Given the description of an element on the screen output the (x, y) to click on. 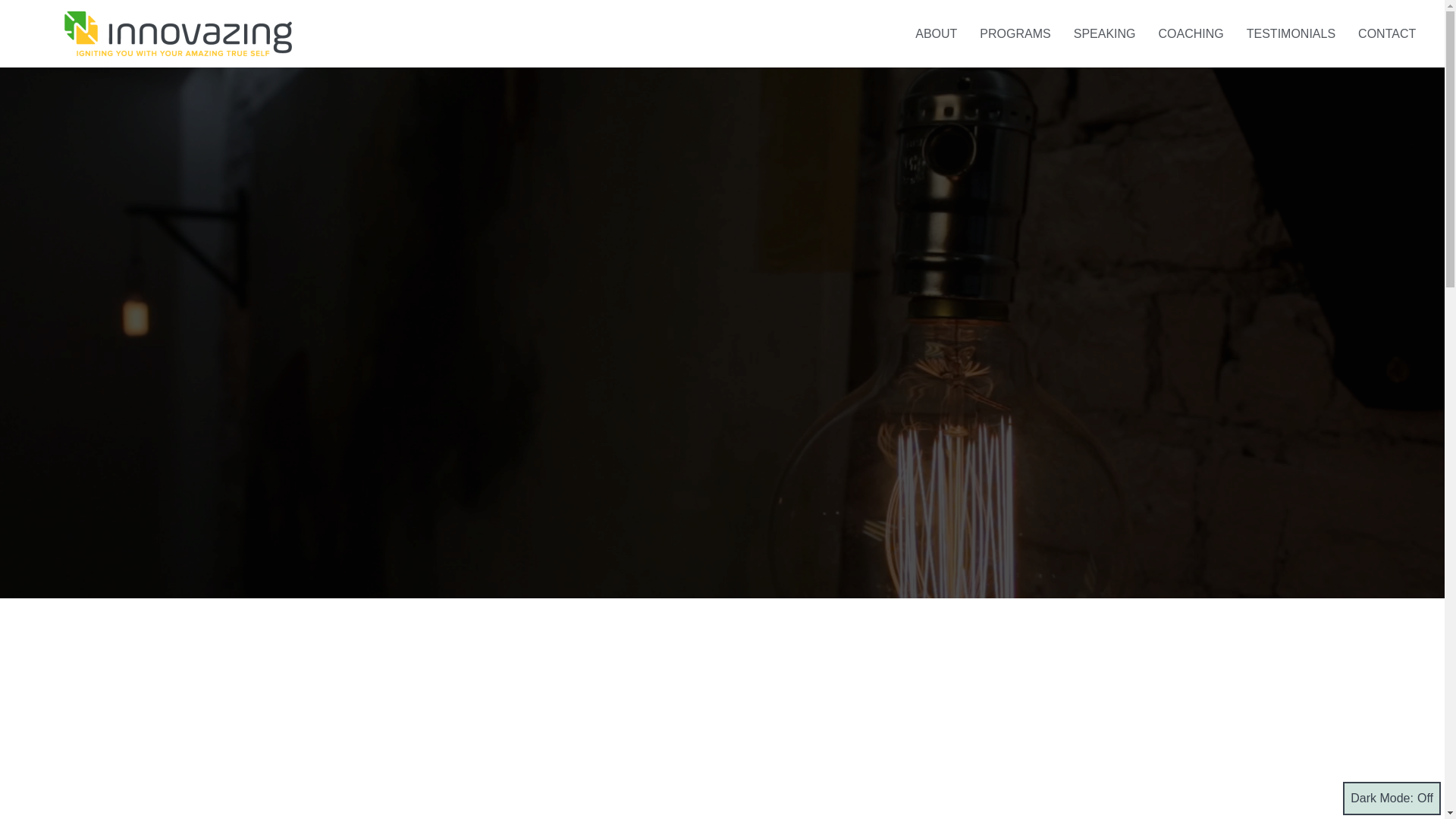
HOME (874, 33)
PROGRAMS (1014, 33)
TESTIMONIALS (1290, 33)
CONTACT (1386, 33)
Dark Mode: (1391, 798)
SPEAKING (1104, 33)
COACHING (1190, 33)
ABOUT (936, 33)
